Given the description of an element on the screen output the (x, y) to click on. 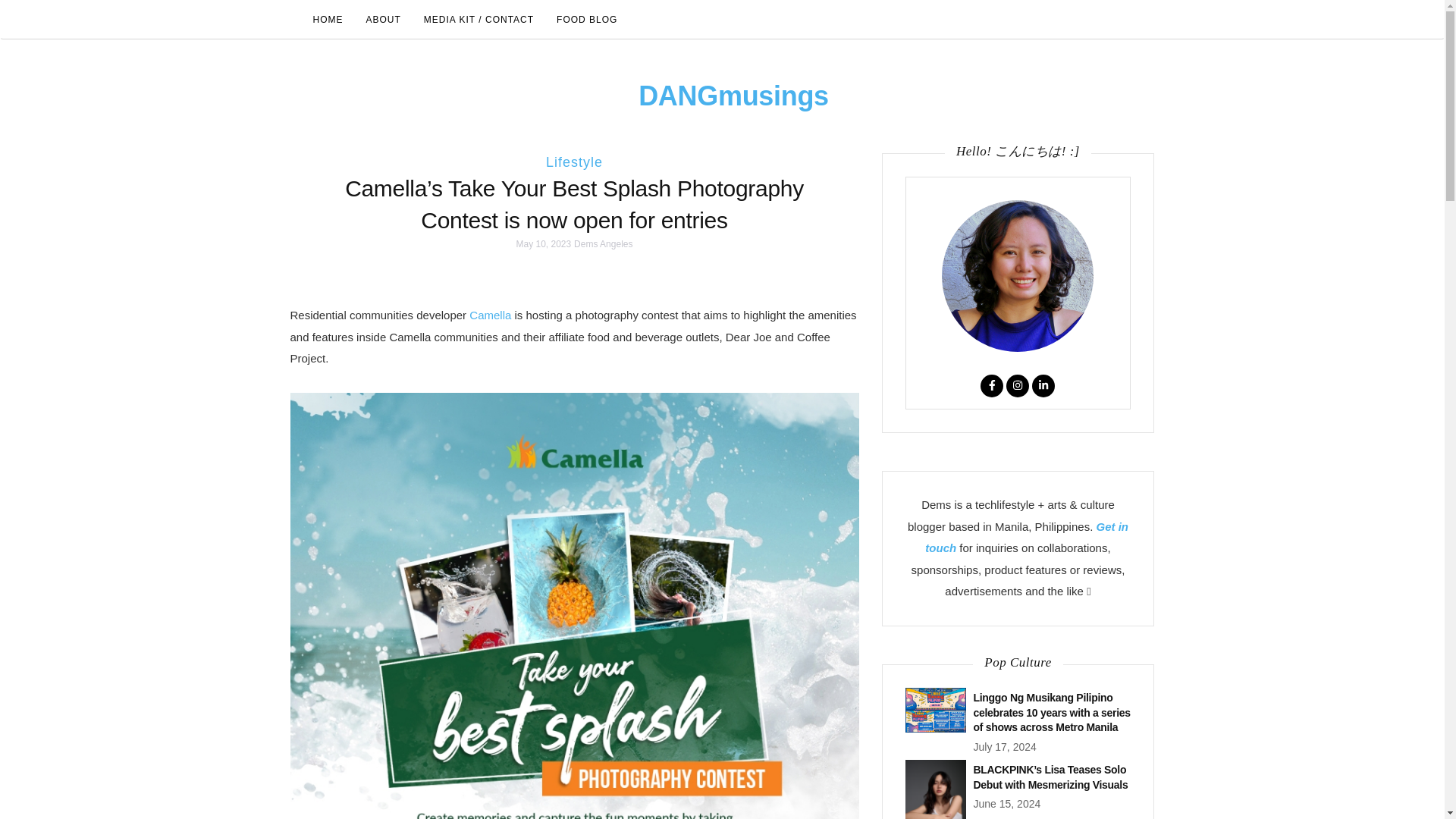
Get in touch (1026, 537)
About (383, 19)
Posts by Dems Angeles (602, 244)
Home (328, 19)
HOME (328, 19)
DANGmusings (733, 95)
Lifestyle (574, 161)
Dems Angeles (602, 244)
FOOD BLOG (586, 19)
